Given the description of an element on the screen output the (x, y) to click on. 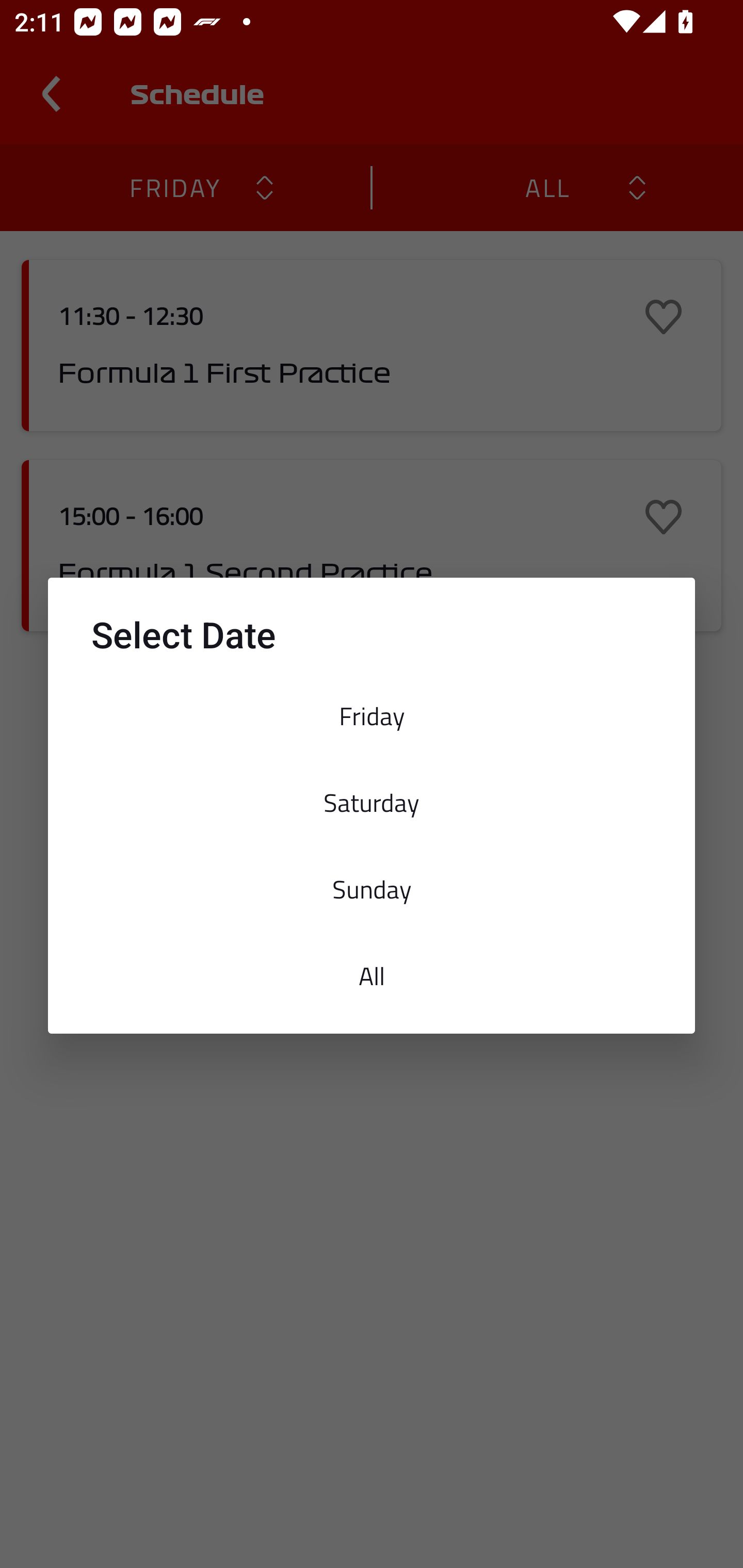
Friday (371, 715)
Saturday (371, 801)
Sunday (371, 888)
All (371, 975)
